Given the description of an element on the screen output the (x, y) to click on. 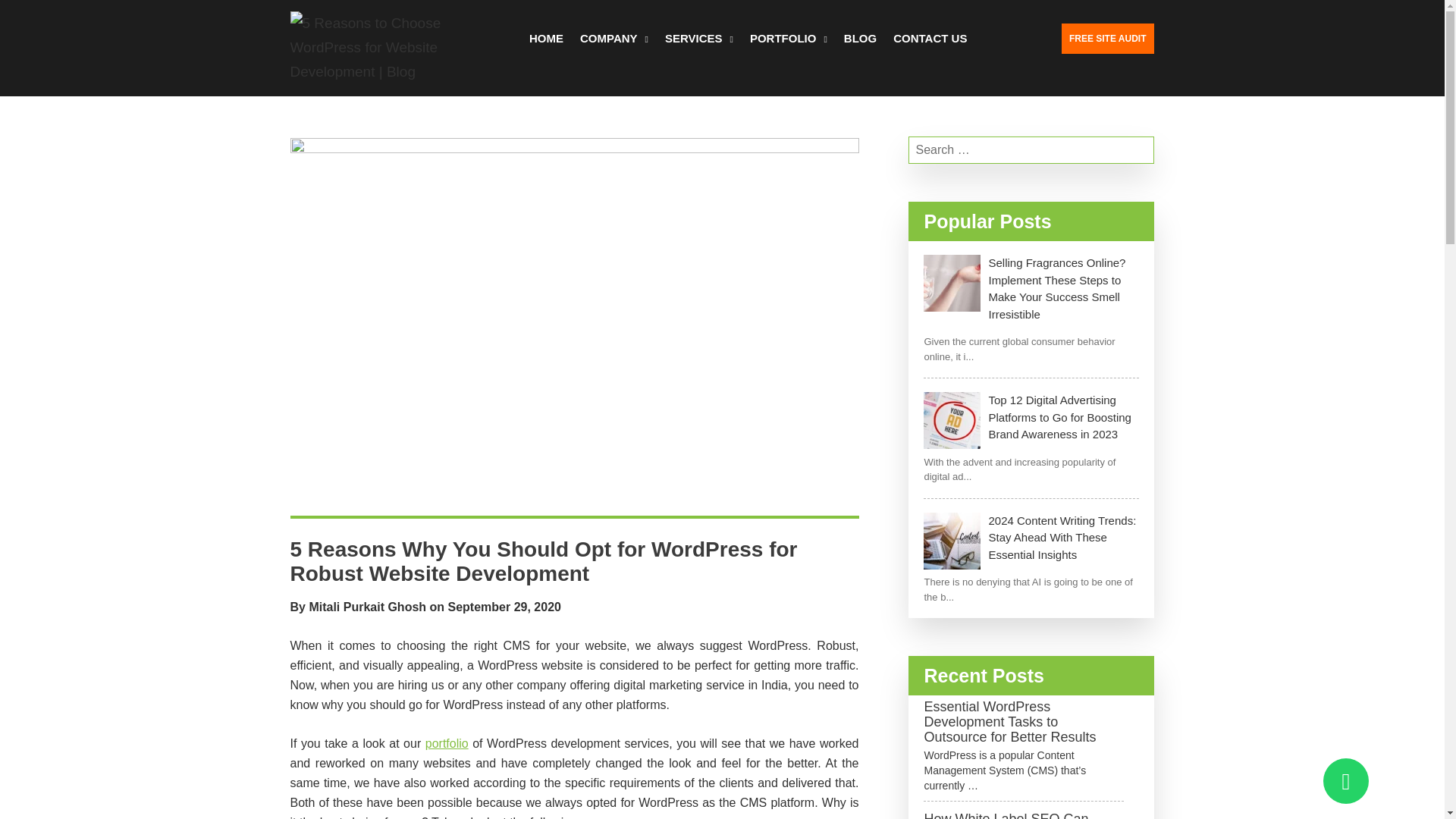
COMPANY (613, 38)
SERVICES (699, 38)
HOME (546, 38)
